Given the description of an element on the screen output the (x, y) to click on. 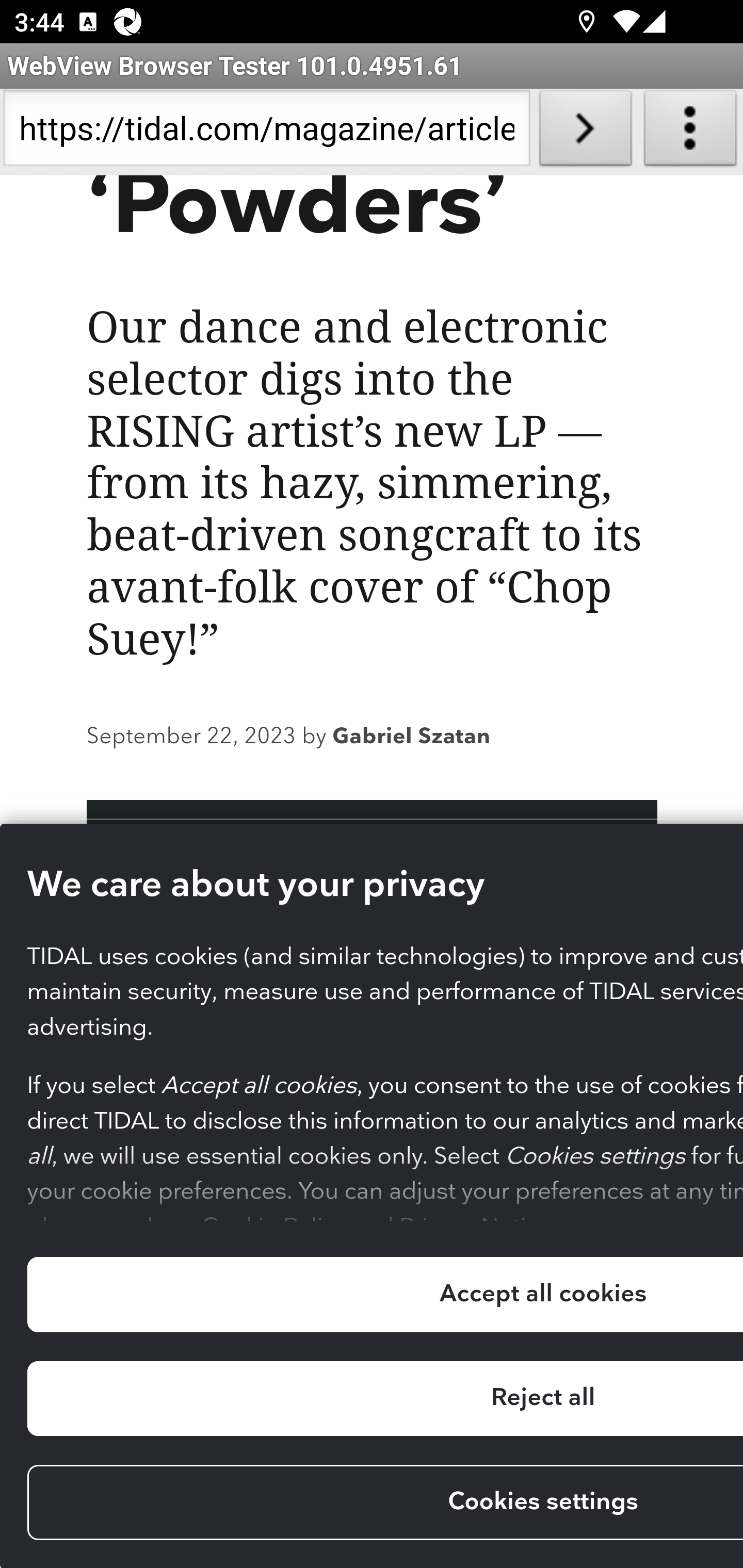
Load URL (585, 132)
About WebView (690, 132)
Gabriel Szatan (411, 739)
Accept all cookies (384, 1294)
Reject all (384, 1400)
Cookies settings (384, 1503)
